Given the description of an element on the screen output the (x, y) to click on. 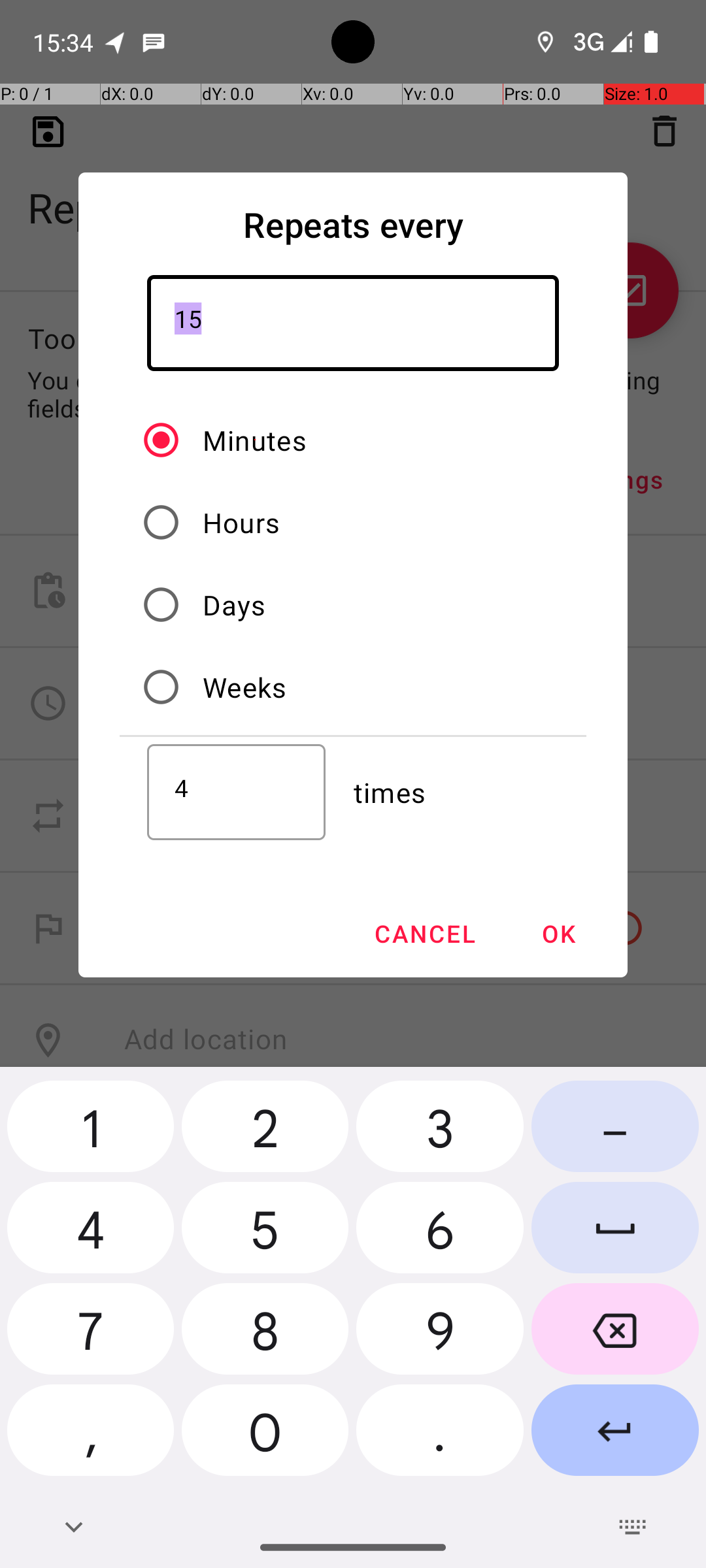
Repeats every Element type: android.widget.TextView (352, 224)
times Element type: android.widget.TextView (469, 791)
Minutes Element type: android.widget.TextView (254, 439)
Hours Element type: android.widget.TextView (241, 521)
Days Element type: android.widget.TextView (233, 604)
Weeks Element type: android.widget.TextView (244, 686)
